Given the description of an element on the screen output the (x, y) to click on. 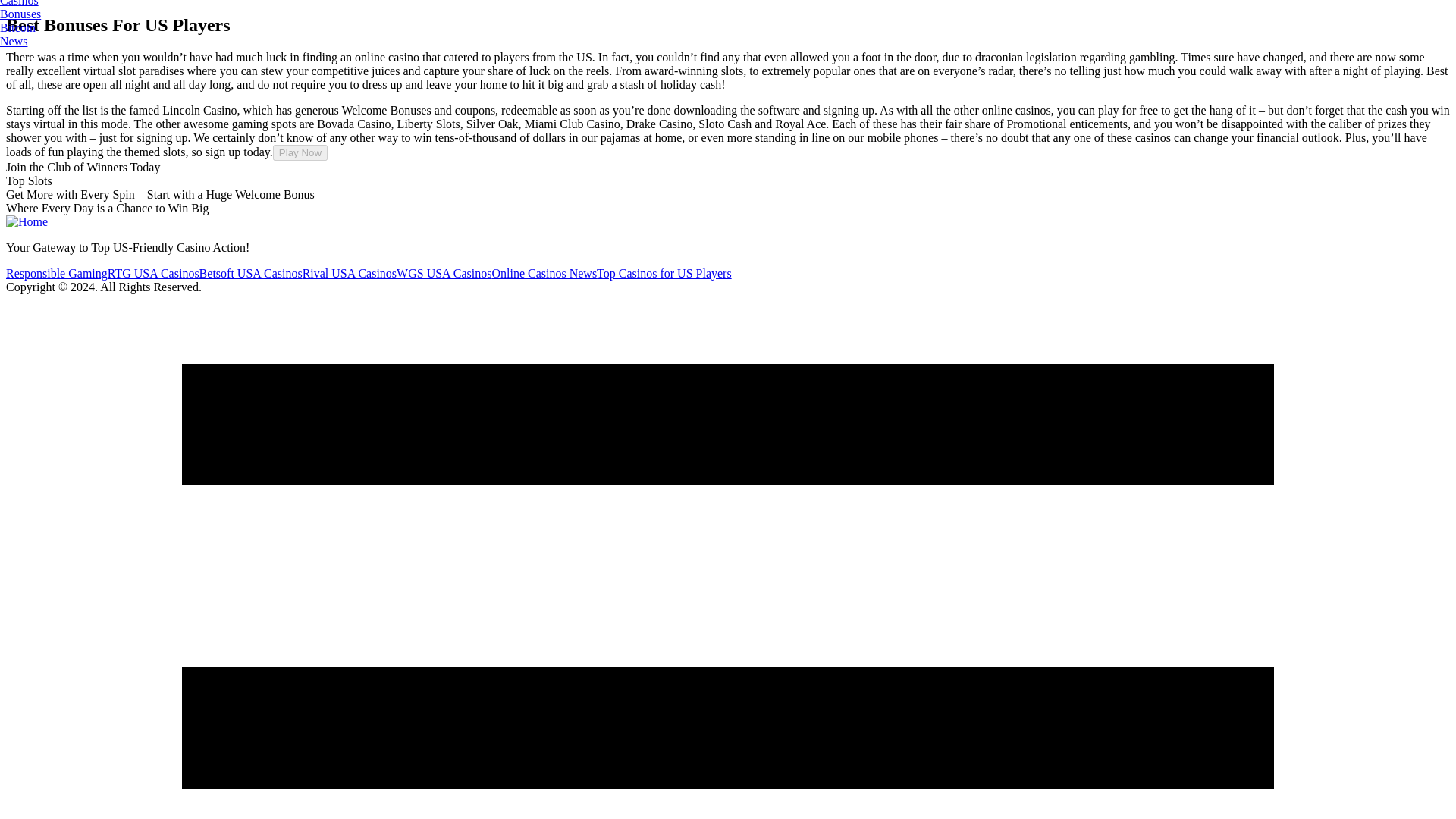
Play Now (300, 152)
